Given the description of an element on the screen output the (x, y) to click on. 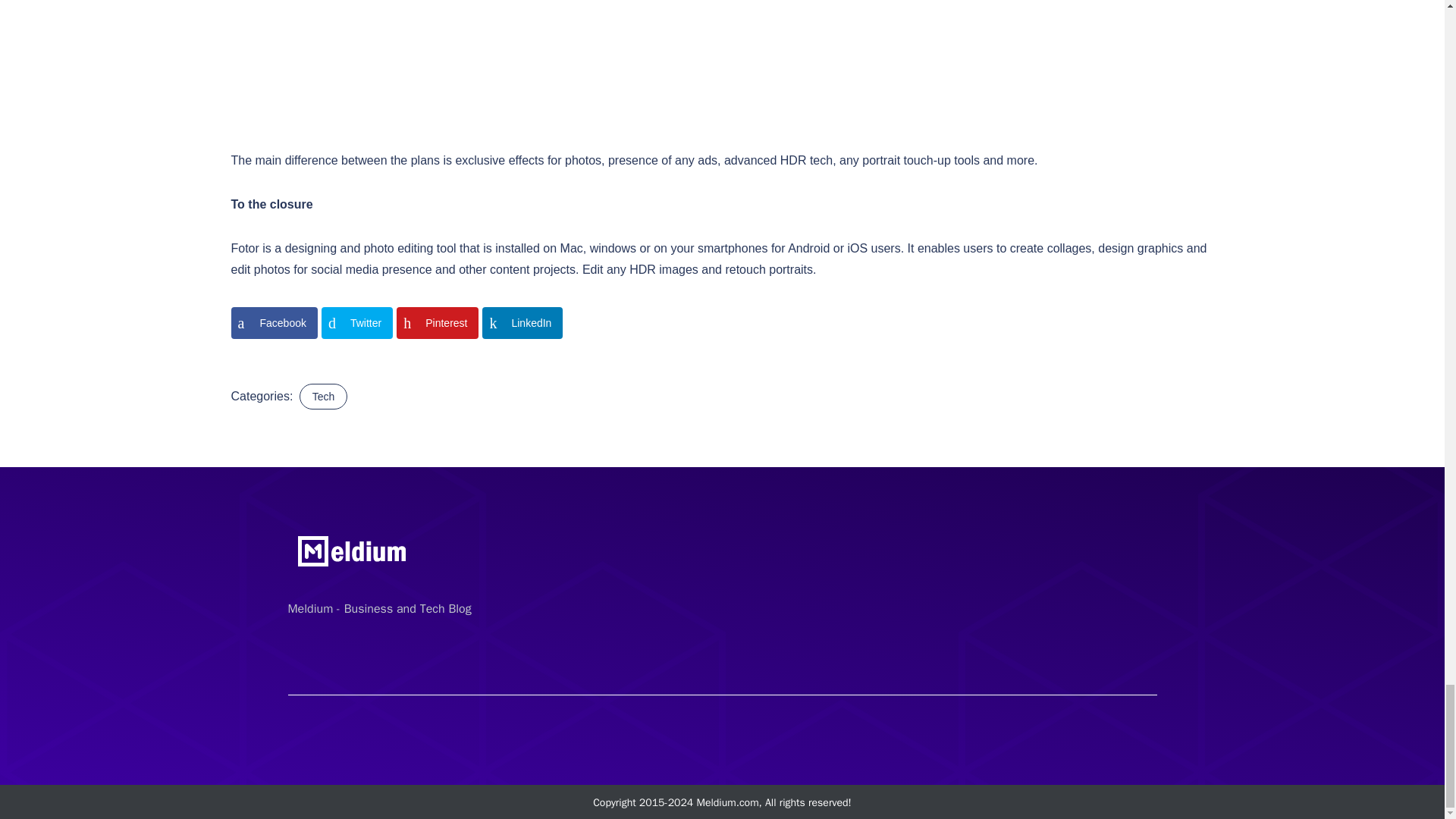
Share on Facebook (273, 323)
Share on Twitter (357, 323)
Share on LinkedIn (521, 323)
Share on Pinterest (437, 323)
